Given the description of an element on the screen output the (x, y) to click on. 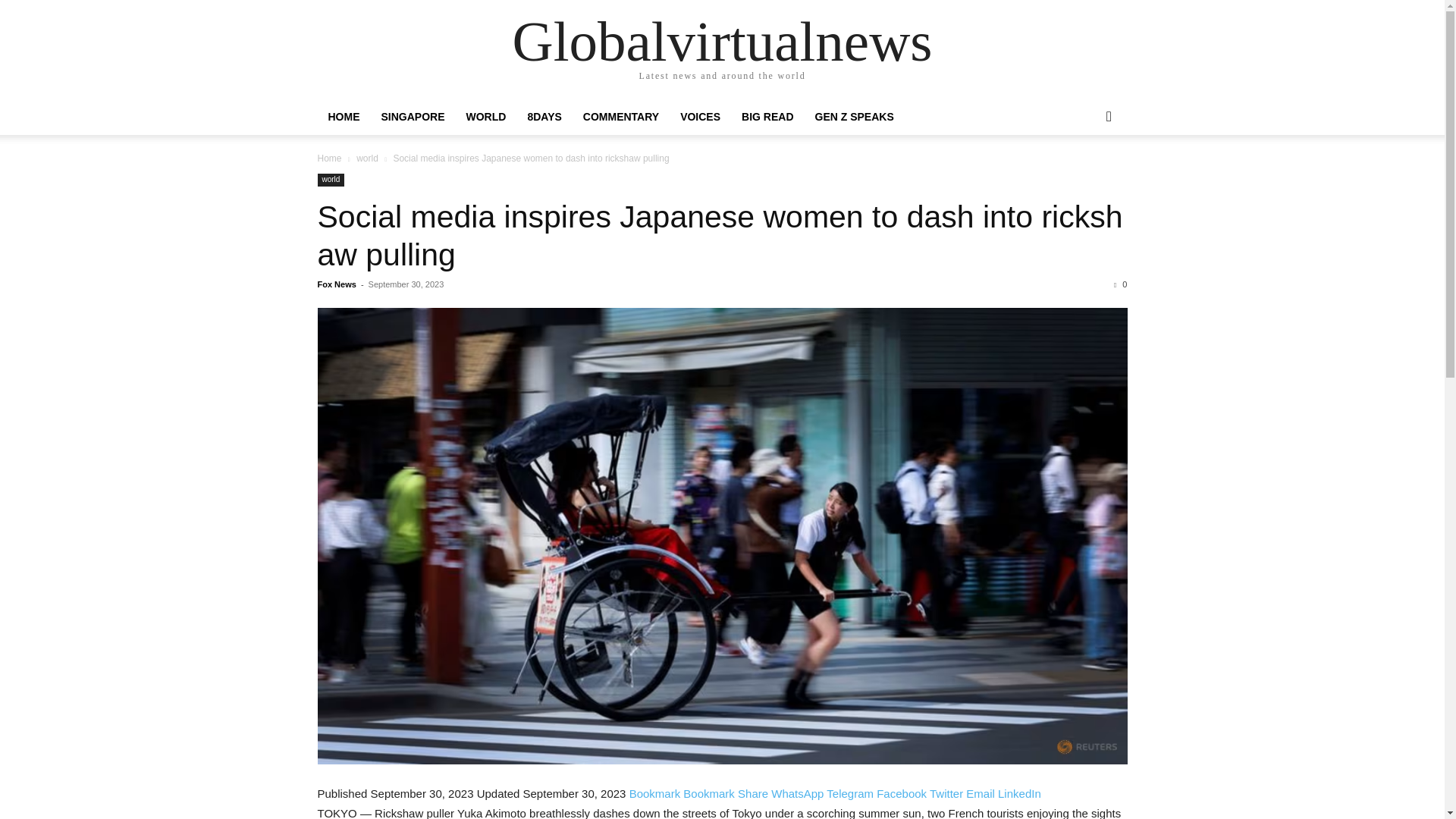
Search (1085, 177)
View all posts in world (367, 158)
Fox News (336, 284)
BIG READ (766, 116)
Bookmark (710, 793)
COMMENTARY (620, 116)
Bookmark (656, 793)
Share (754, 793)
WORLD (485, 116)
LinkedIn (1019, 793)
HOME (343, 116)
GEN Z SPEAKS (853, 116)
Globalvirtualnews (721, 41)
WhatsApp (799, 793)
world (330, 179)
